Given the description of an element on the screen output the (x, y) to click on. 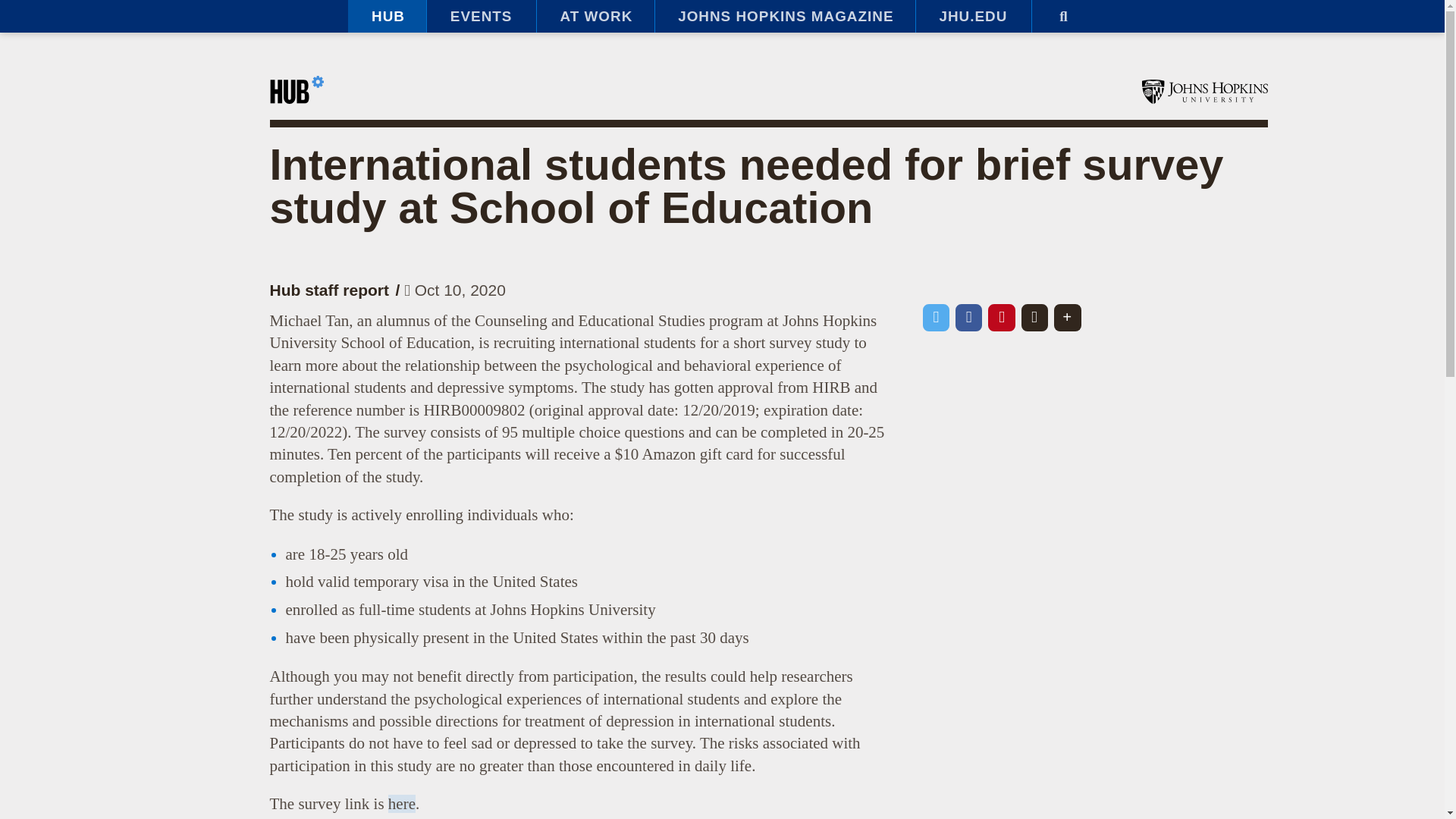
JHU.EDU (972, 16)
JOHNS HOPKINS MAGAZINE (784, 16)
Johns Hopkins University (1204, 91)
EVENTS (480, 16)
HUB (386, 16)
AT WORK (594, 16)
